Given the description of an element on the screen output the (x, y) to click on. 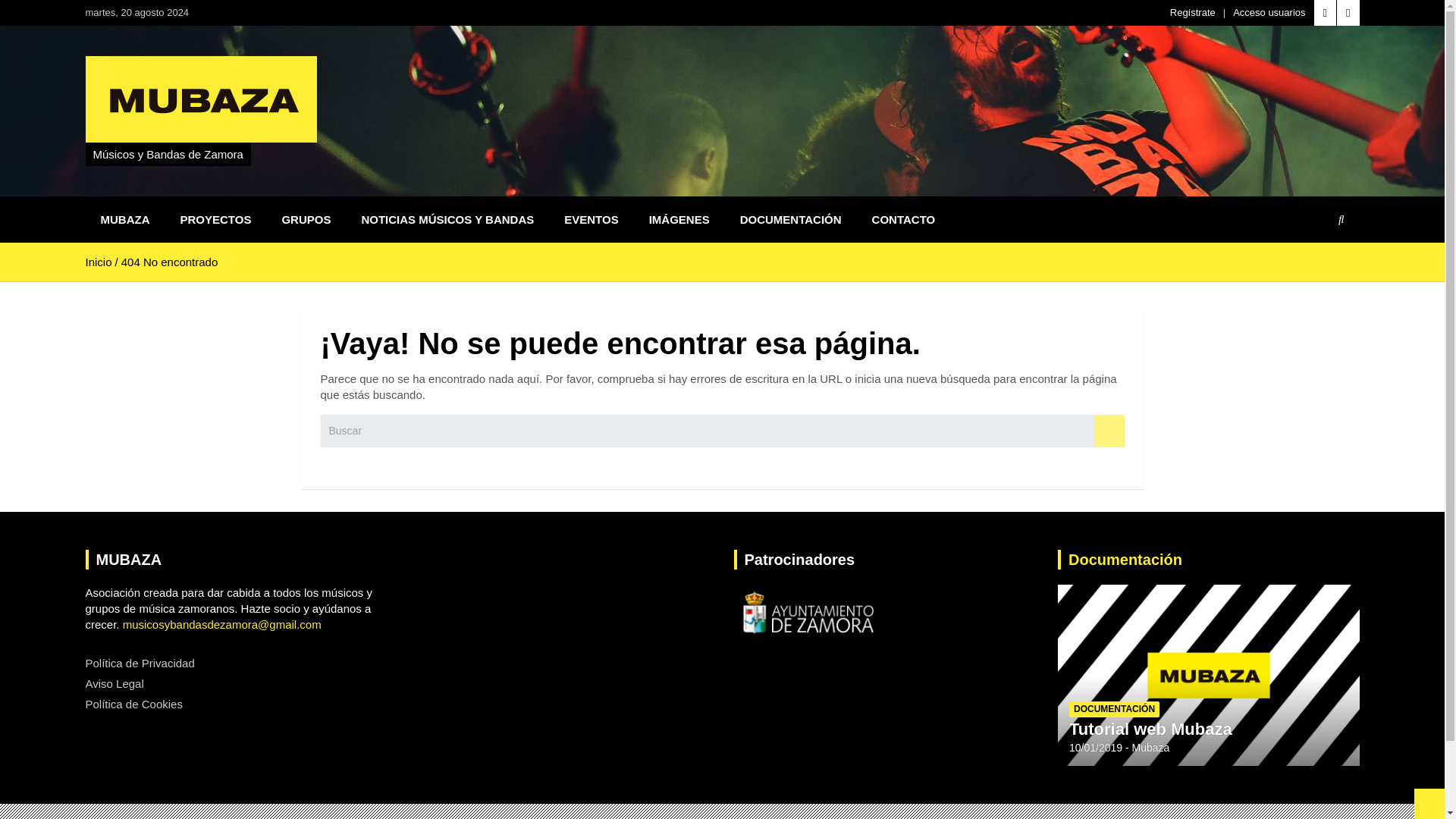
Tutorial web Mubaza (1149, 728)
Mubaza (1151, 747)
CONTACTO (903, 219)
MUBAZA (124, 219)
EVENTOS (590, 219)
Aviso Legal (113, 683)
Acceso usuarios (1268, 12)
Tutorial web Mubaza (1095, 747)
GRUPOS (306, 219)
Inicio (98, 261)
